Given the description of an element on the screen output the (x, y) to click on. 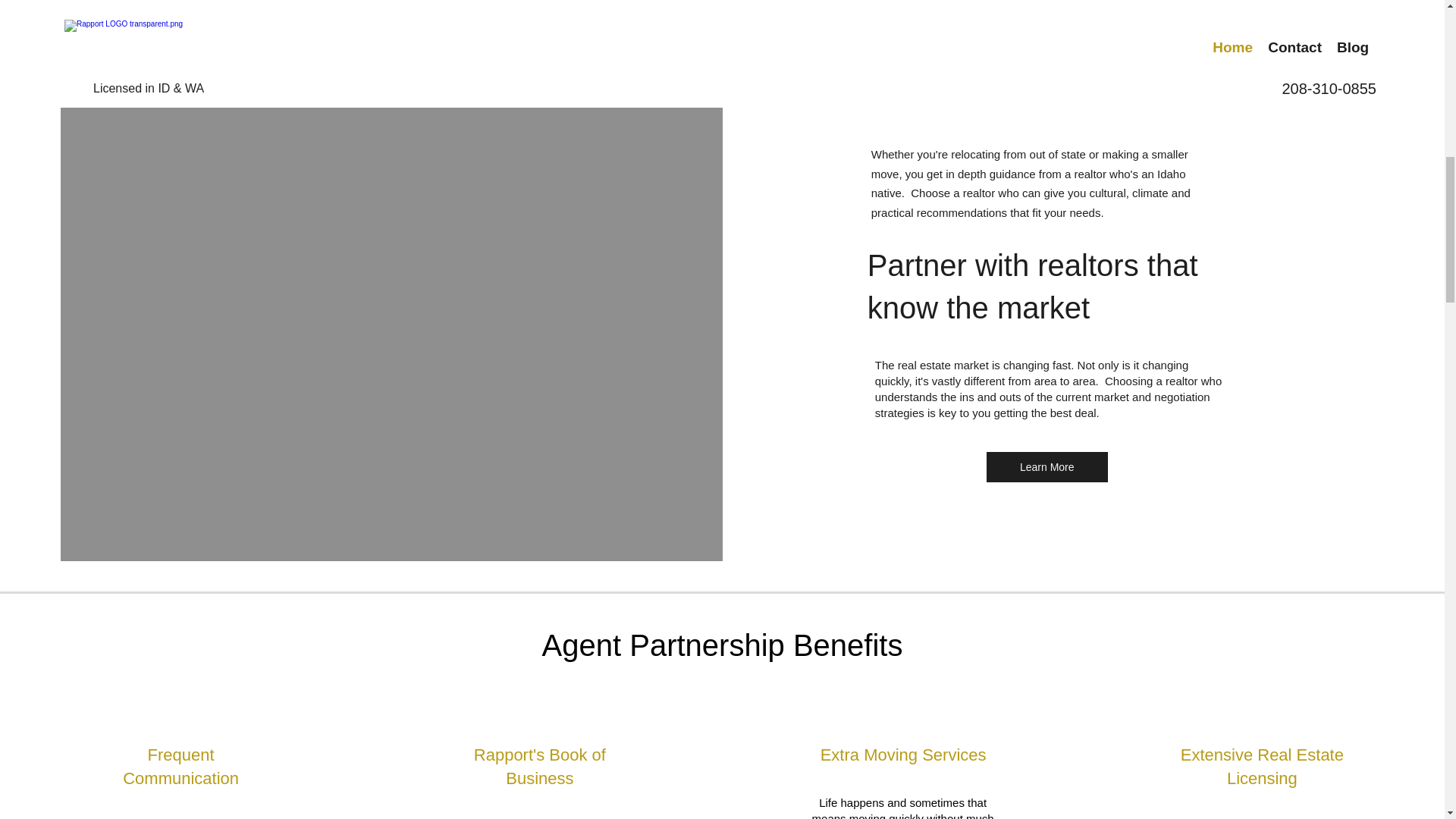
Learn More (1047, 467)
